Given the description of an element on the screen output the (x, y) to click on. 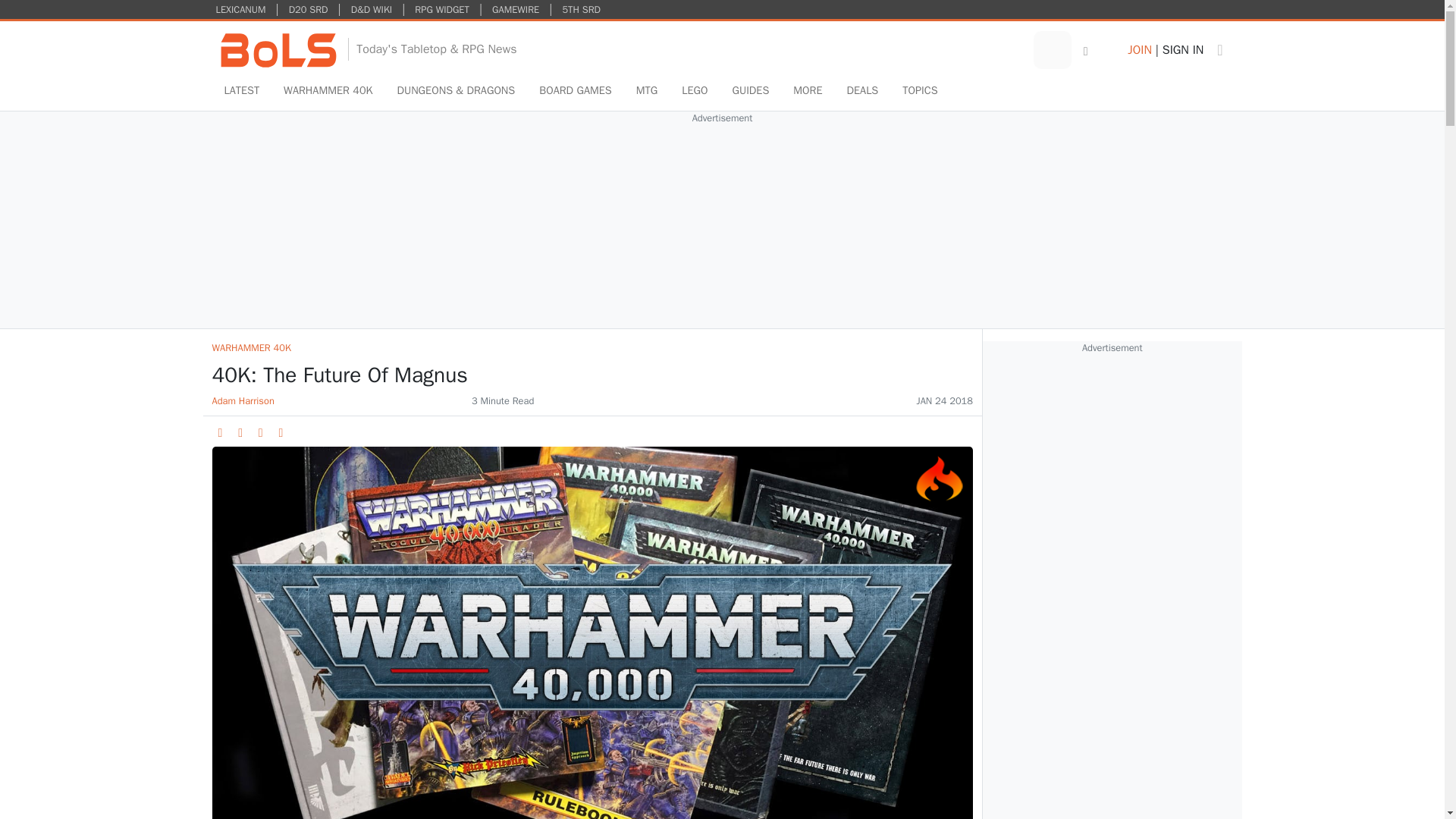
GAMEWIRE (515, 9)
LEGO (694, 90)
Guides (749, 90)
GUIDES (749, 90)
Warhammer 40k (327, 90)
WARHAMMER 40K (327, 90)
JOIN (1138, 49)
Board Games (575, 90)
Lexicanum (240, 9)
Latest (242, 90)
